Given the description of an element on the screen output the (x, y) to click on. 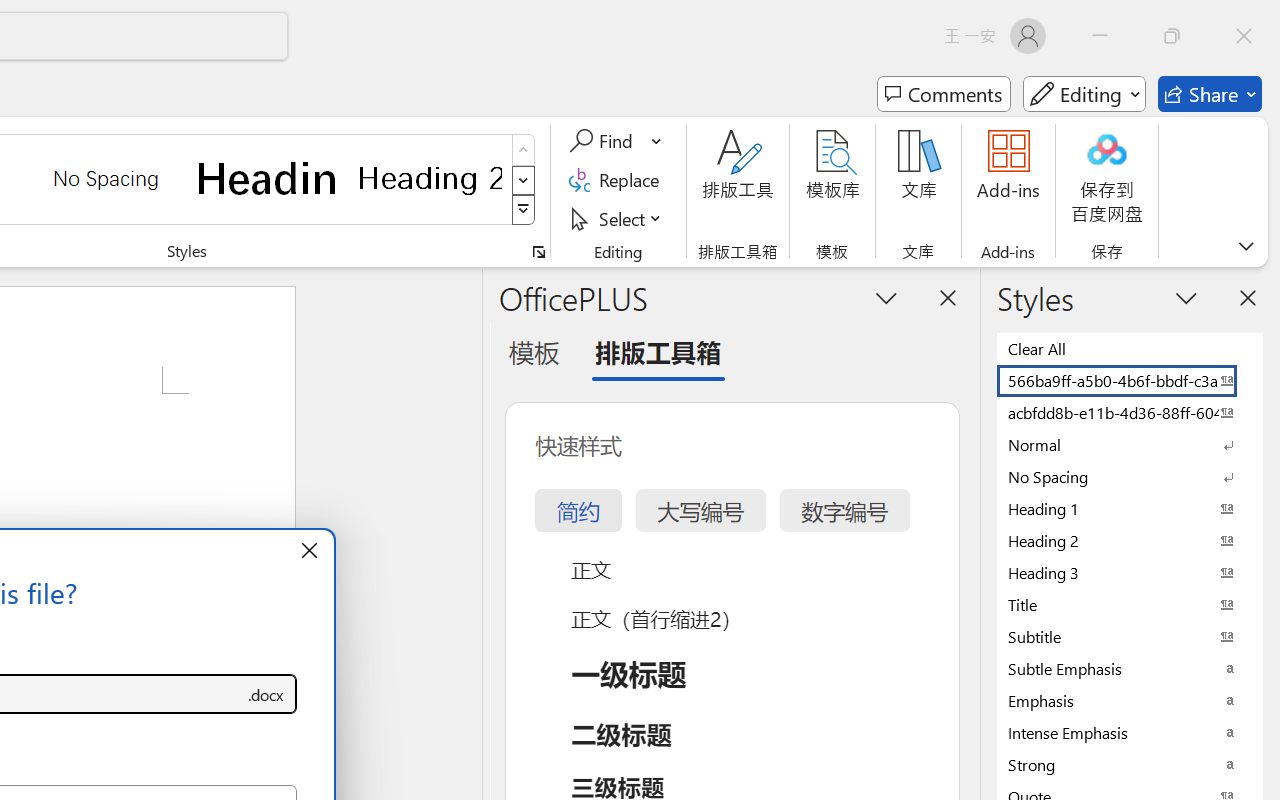
Clear All (1130, 348)
Strong (1130, 764)
Intense Emphasis (1130, 732)
Task Pane Options (886, 297)
Comments (943, 94)
No Spacing (1130, 476)
Share (1210, 94)
Heading 1 (267, 178)
Minimize (1099, 36)
acbfdd8b-e11b-4d36-88ff-6049b138f862 (1130, 412)
